Given the description of an element on the screen output the (x, y) to click on. 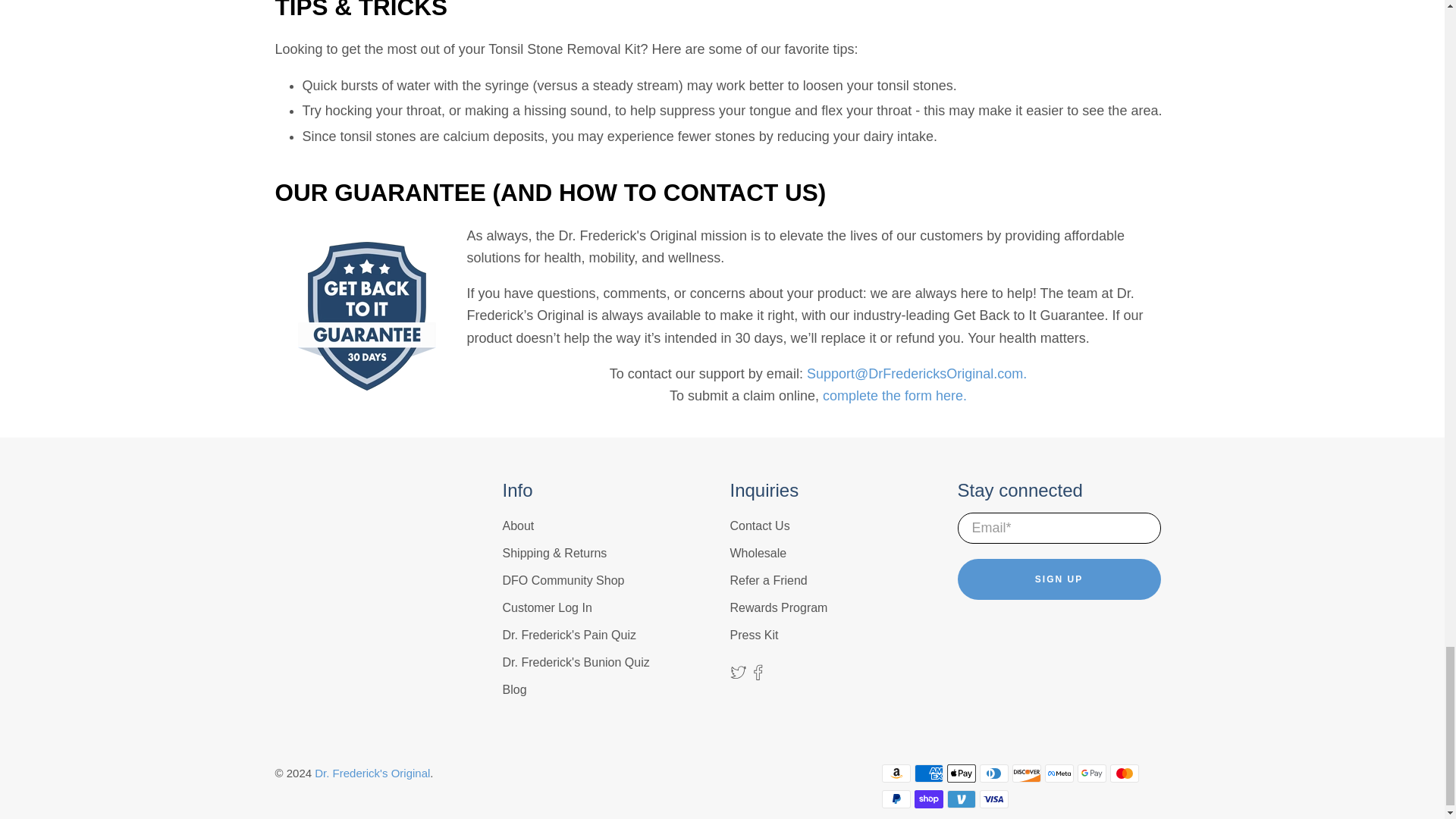
Dr. Frederick's Original on Facebook (758, 676)
PayPal (895, 799)
Dr. Frederick's Original on Twitter (737, 676)
Amazon (895, 773)
American Express (928, 773)
Discover (1026, 773)
Google Pay (1091, 773)
Meta Pay (1059, 773)
Shop Pay (928, 799)
Mastercard (1123, 773)
